Given the description of an element on the screen output the (x, y) to click on. 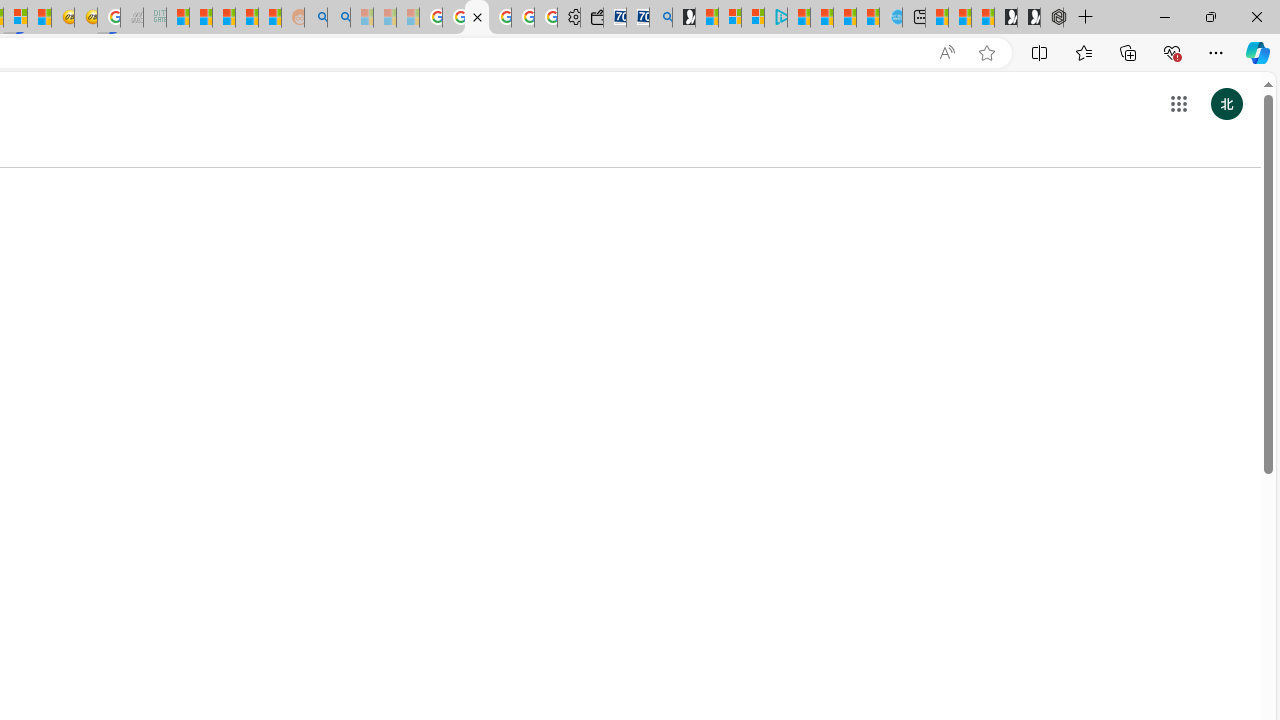
Cheap Car Rentals - Save70.com (637, 17)
Bing Real Estate - Home sales and rental listings (660, 17)
Student Loan Update: Forgiveness Program Ends This Month (246, 17)
